Given the description of an element on the screen output the (x, y) to click on. 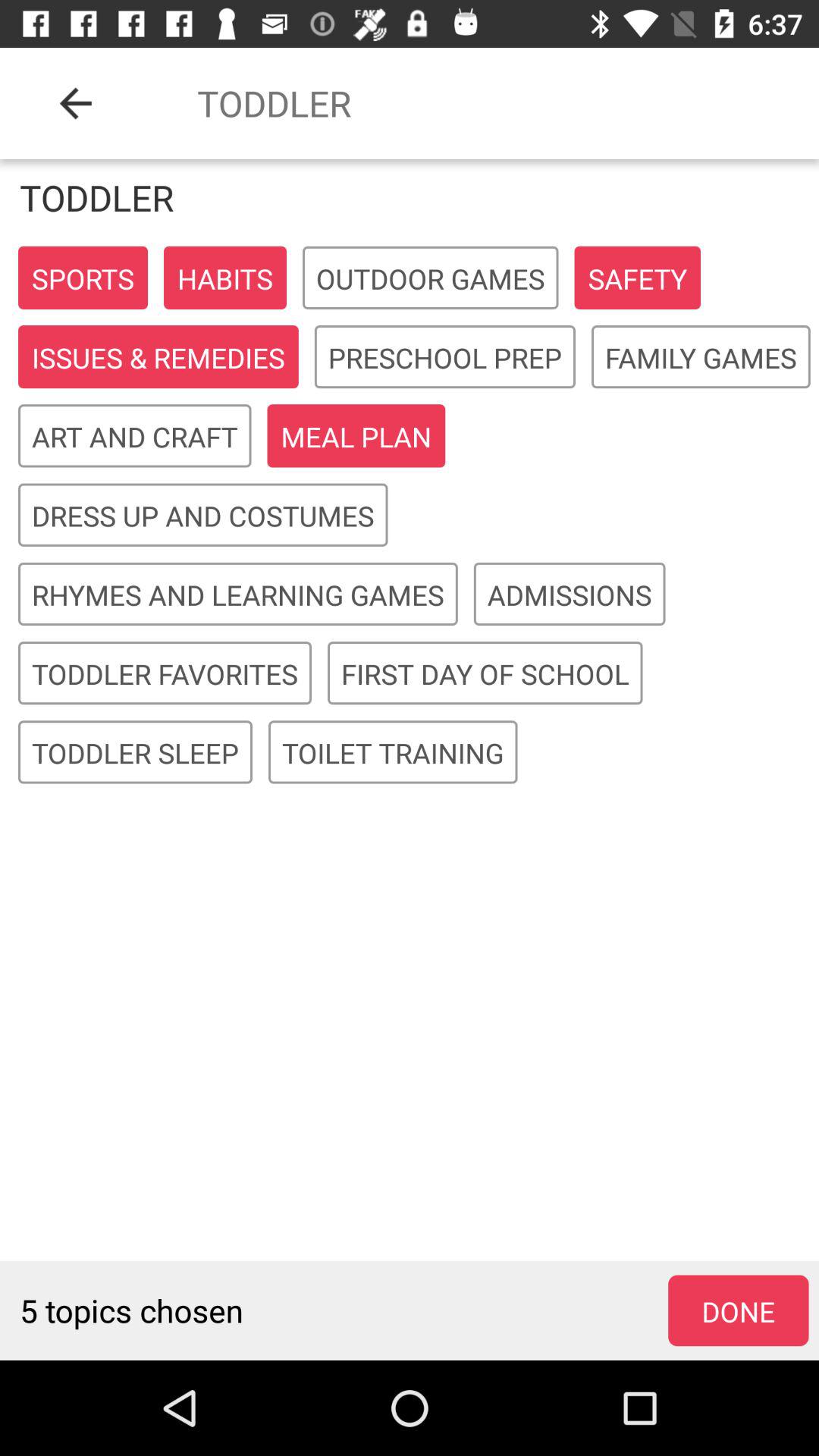
launch the icon to the right of the preschool prep item (700, 357)
